Given the description of an element on the screen output the (x, y) to click on. 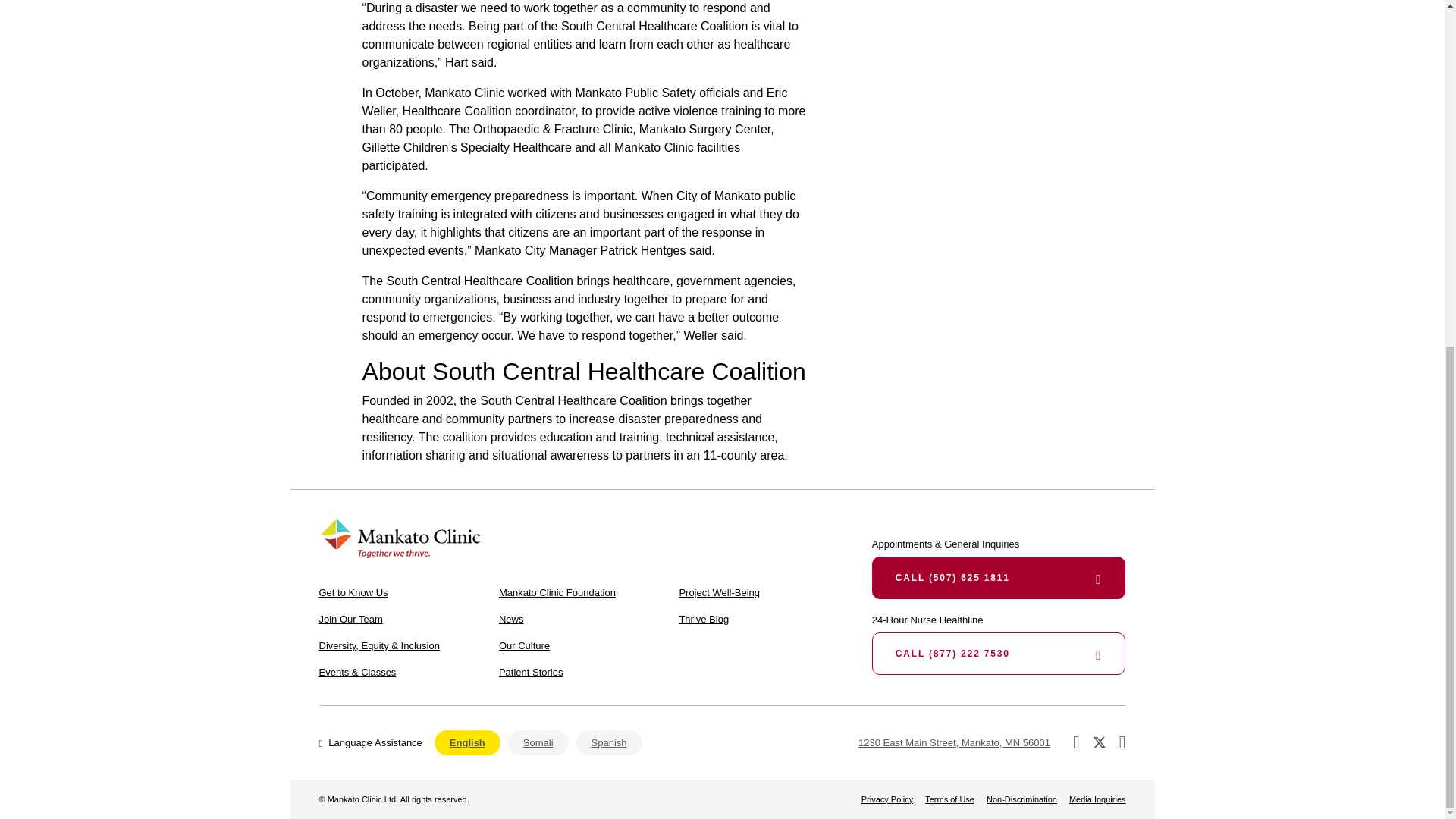
Mankato Clinic (400, 537)
